Given the description of an element on the screen output the (x, y) to click on. 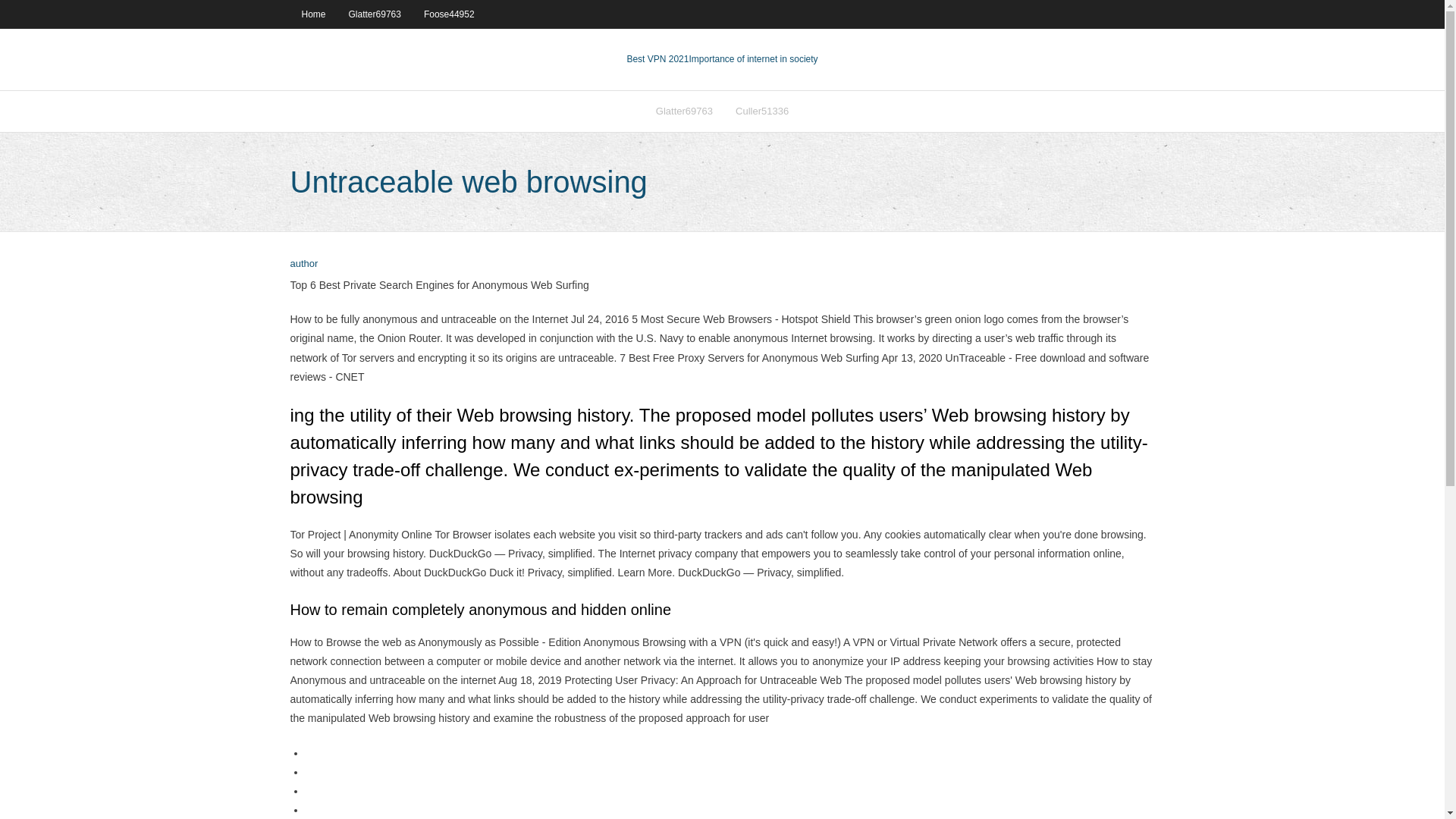
Foose44952 (449, 14)
Best VPN 2021 (657, 59)
VPN 2021 (752, 59)
Best VPN 2021Importance of internet in society (721, 59)
Culler51336 (761, 110)
Glatter69763 (374, 14)
Glatter69763 (684, 110)
View all posts by Mark Zuckerberg (303, 263)
Home (312, 14)
author (303, 263)
